Given the description of an element on the screen output the (x, y) to click on. 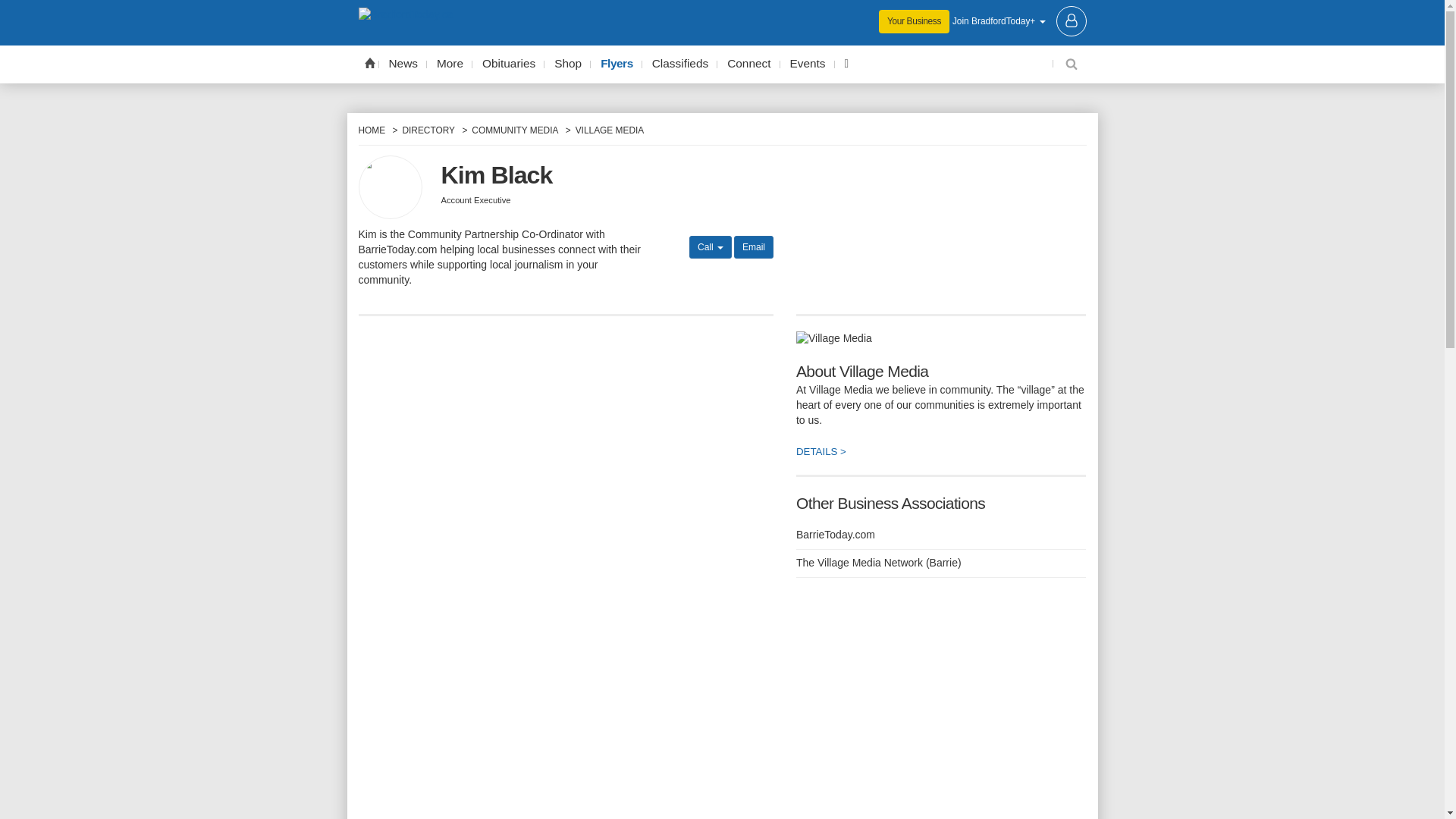
Your Business (914, 21)
Home (368, 62)
News (403, 64)
